Given the description of an element on the screen output the (x, y) to click on. 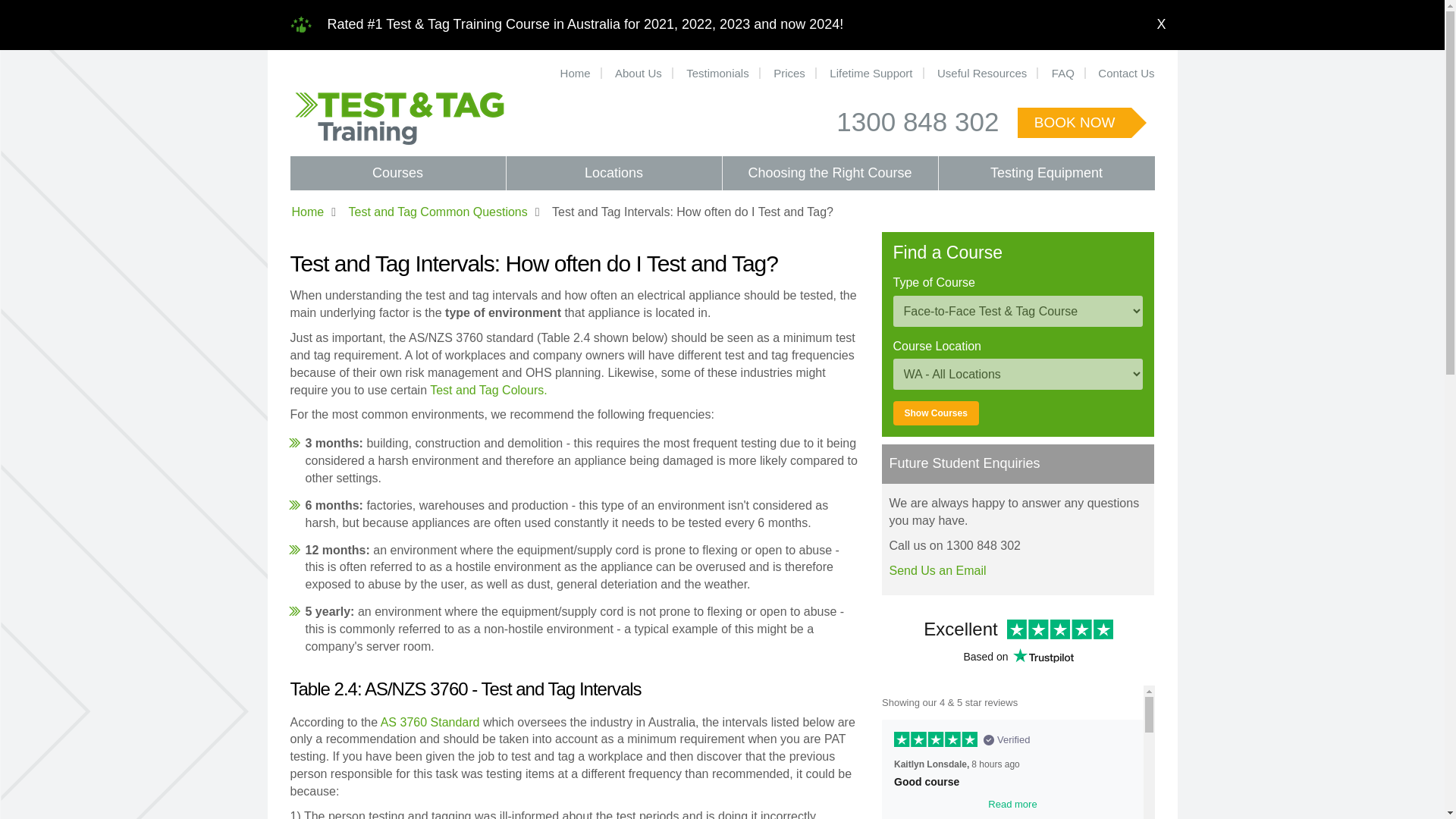
Useful Resources (982, 72)
Lifetime Support (871, 72)
Prices (789, 72)
BOOK NOW (1074, 122)
Locations (614, 173)
Testimonials (718, 72)
Choosing the Right Course (829, 173)
Contact Us (1121, 72)
About Us (638, 72)
Testing Equipment (1046, 173)
Home (576, 72)
FAQ (1064, 72)
Customer reviews powered by Trustpilot (1017, 713)
Test and Tag Common Questions (437, 211)
Courses (397, 173)
